Given the description of an element on the screen output the (x, y) to click on. 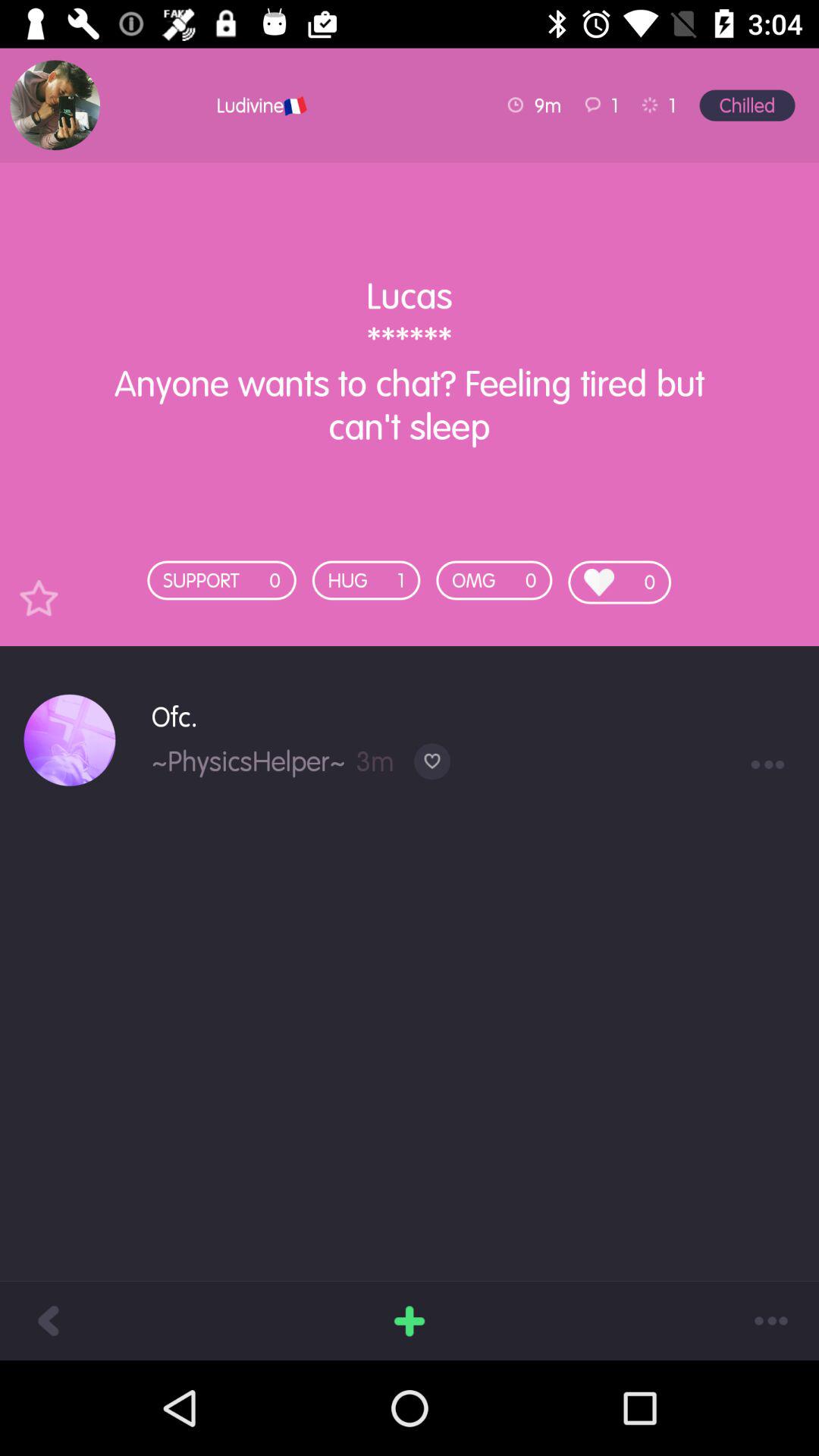
add as a favorite (38, 597)
